Given the description of an element on the screen output the (x, y) to click on. 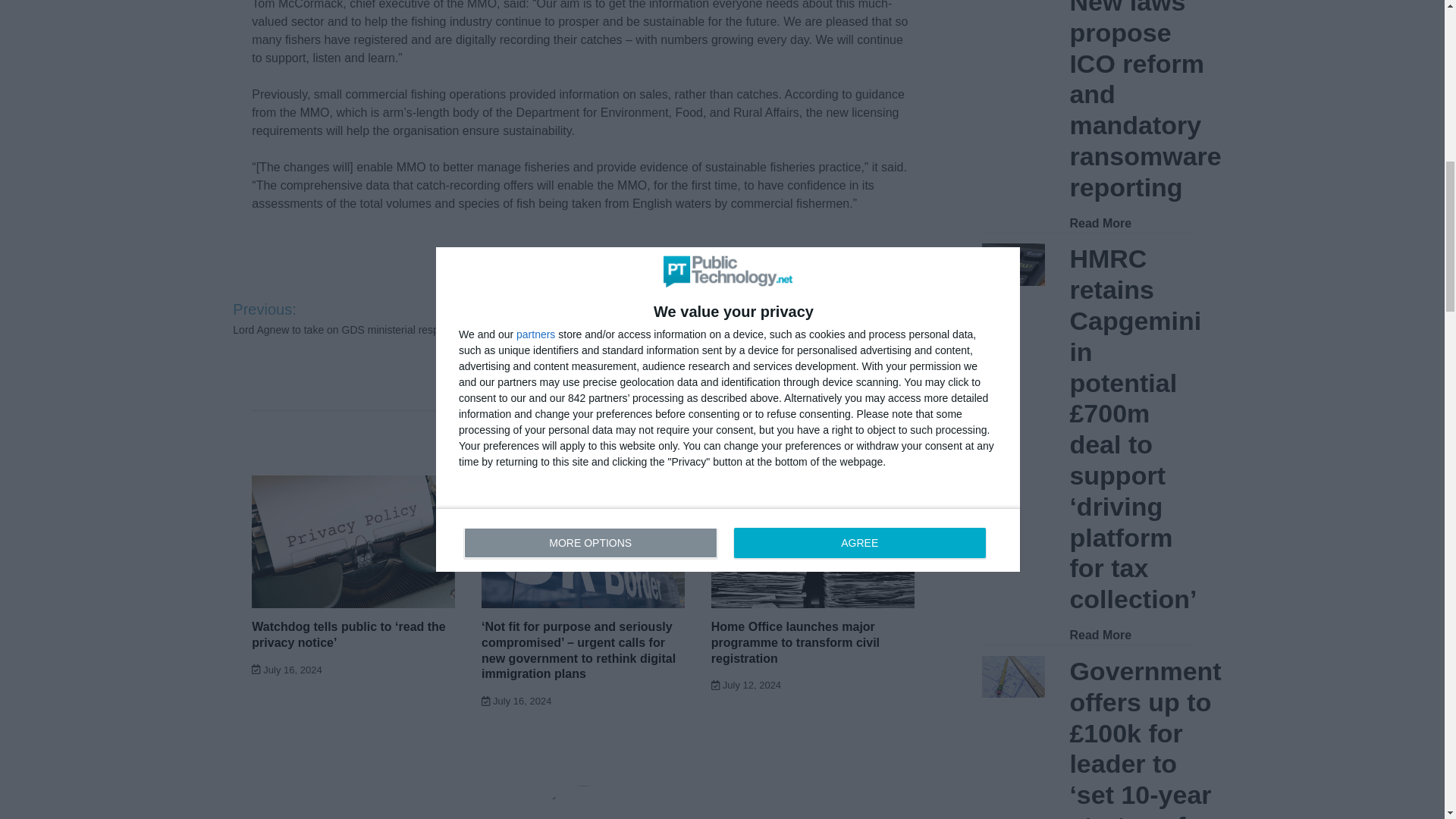
July 16, 2024 (286, 669)
